Given the description of an element on the screen output the (x, y) to click on. 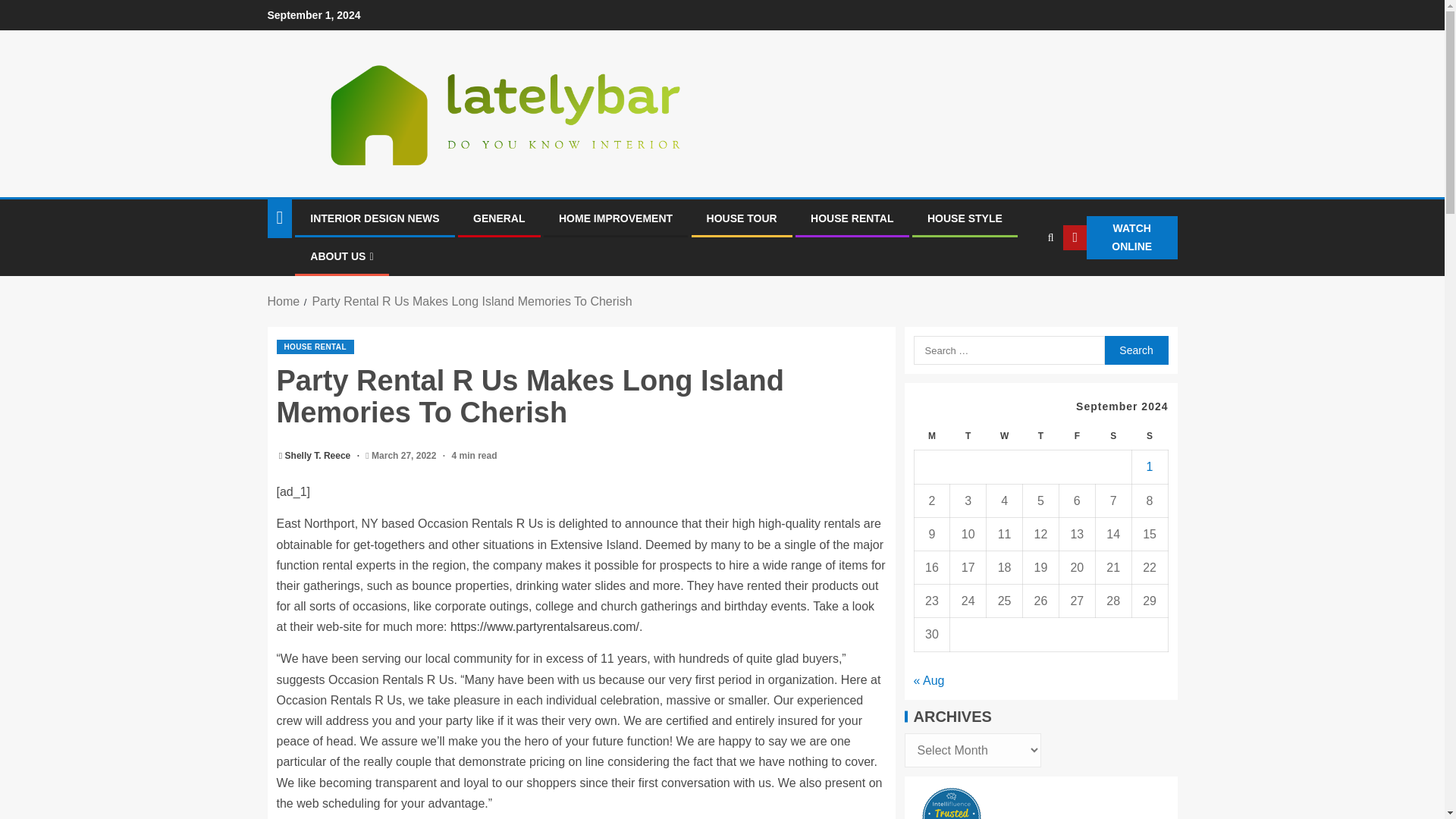
Search (1135, 349)
HOUSE TOUR (741, 218)
Thursday (1041, 436)
Party Rental R Us Makes Long Island Memories To Cherish (471, 300)
GENERAL (498, 218)
Search (1020, 284)
Monday (932, 436)
Tuesday (968, 436)
WATCH ONLINE (1119, 238)
Shelly T. Reece (319, 455)
